Given the description of an element on the screen output the (x, y) to click on. 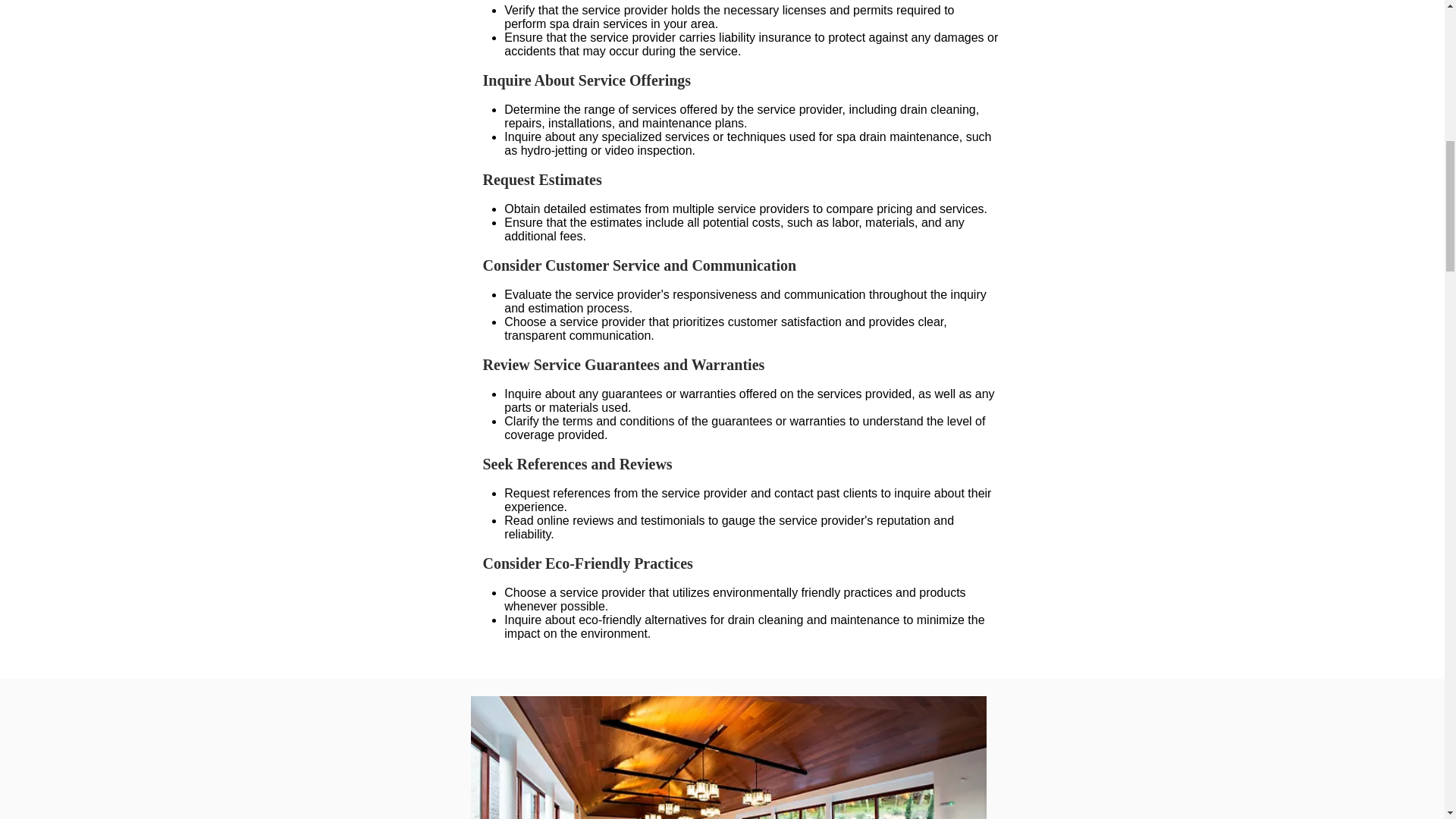
Beautiful Spa Pool.jpg (727, 757)
